Given the description of an element on the screen output the (x, y) to click on. 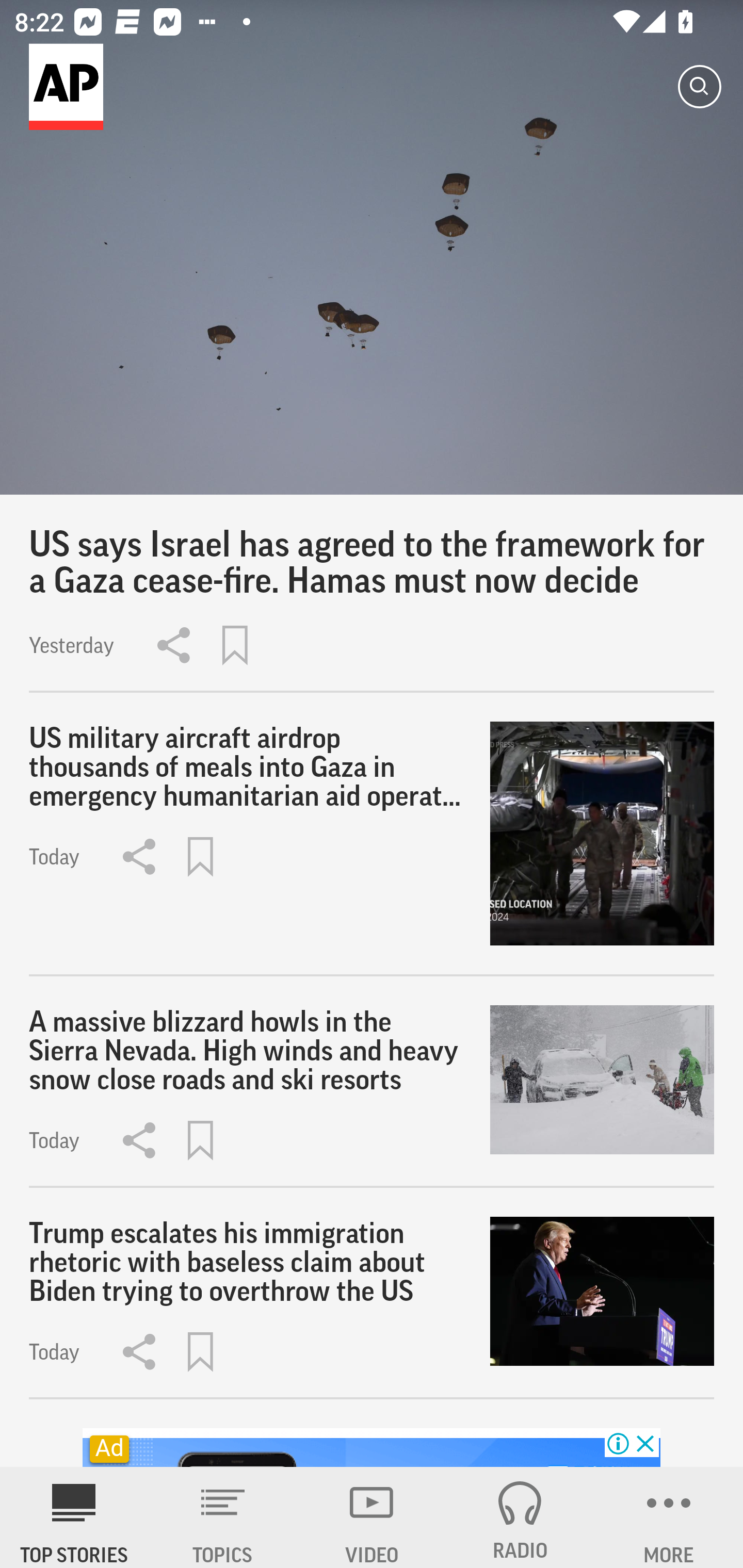
AP News TOP STORIES (74, 1517)
TOPICS (222, 1517)
VIDEO (371, 1517)
RADIO (519, 1517)
MORE (668, 1517)
